Given the description of an element on the screen output the (x, y) to click on. 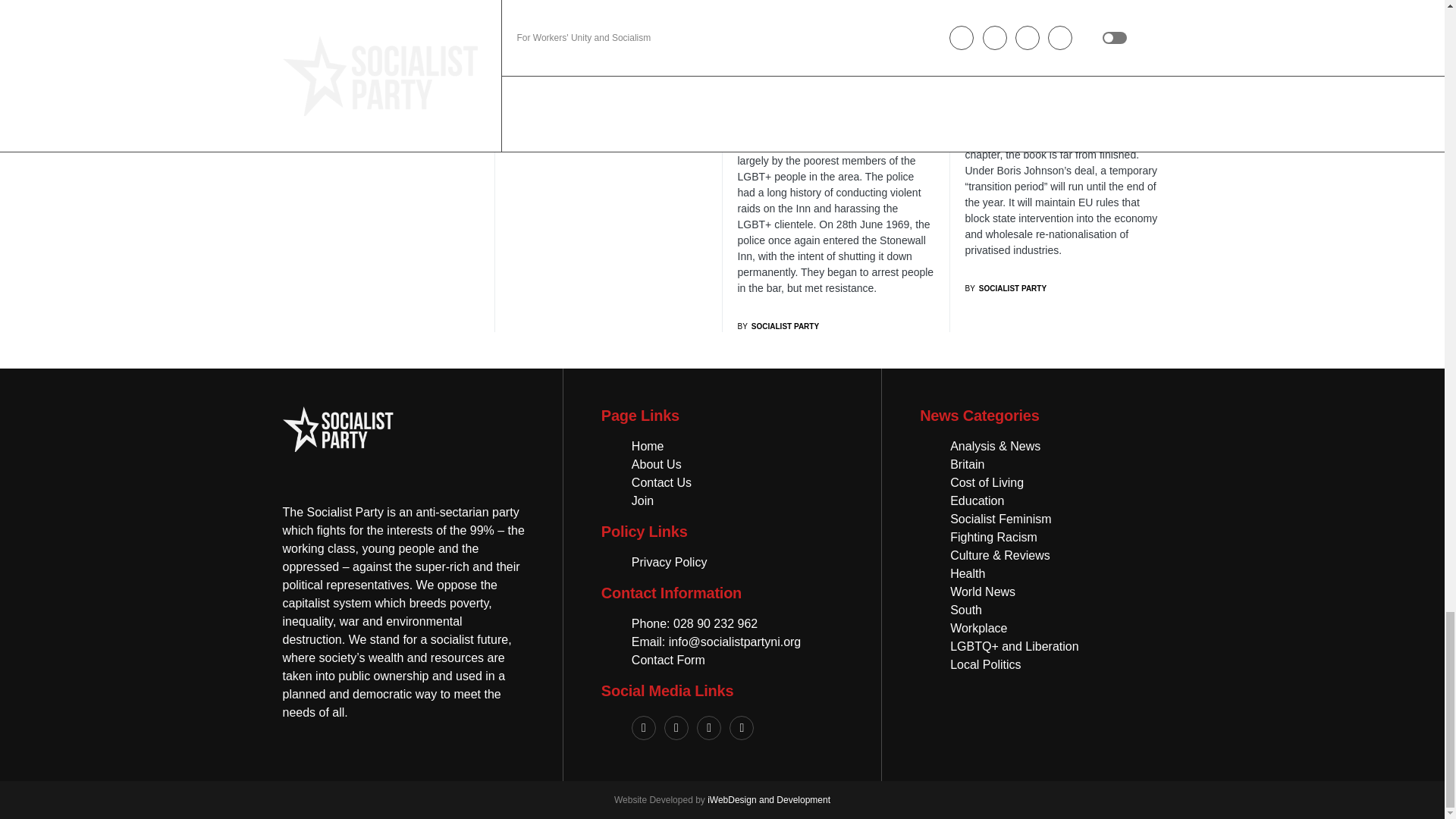
View all posts by Socialist Party (1004, 288)
View all posts by Socialist Party (777, 326)
